Given the description of an element on the screen output the (x, y) to click on. 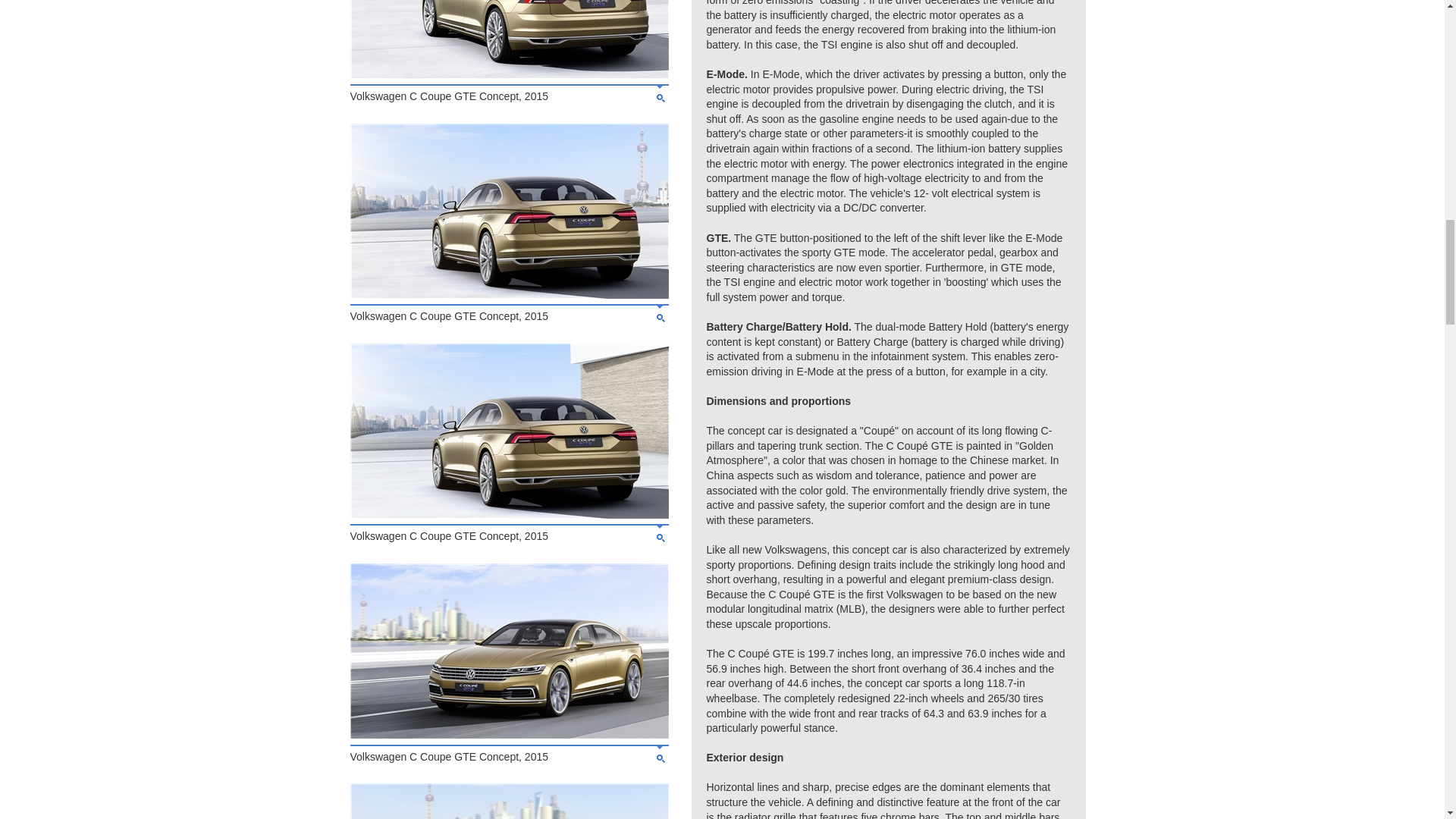
Volkswagen C Coupe GTE Concept, 2015 (509, 514)
Volkswagen C Coupe GTE Concept, 2015 (509, 73)
Volkswagen C Coupe GTE Concept, 2015 (509, 734)
Volkswagen C Coupe GTE Concept, 2015 (509, 295)
